Given the description of an element on the screen output the (x, y) to click on. 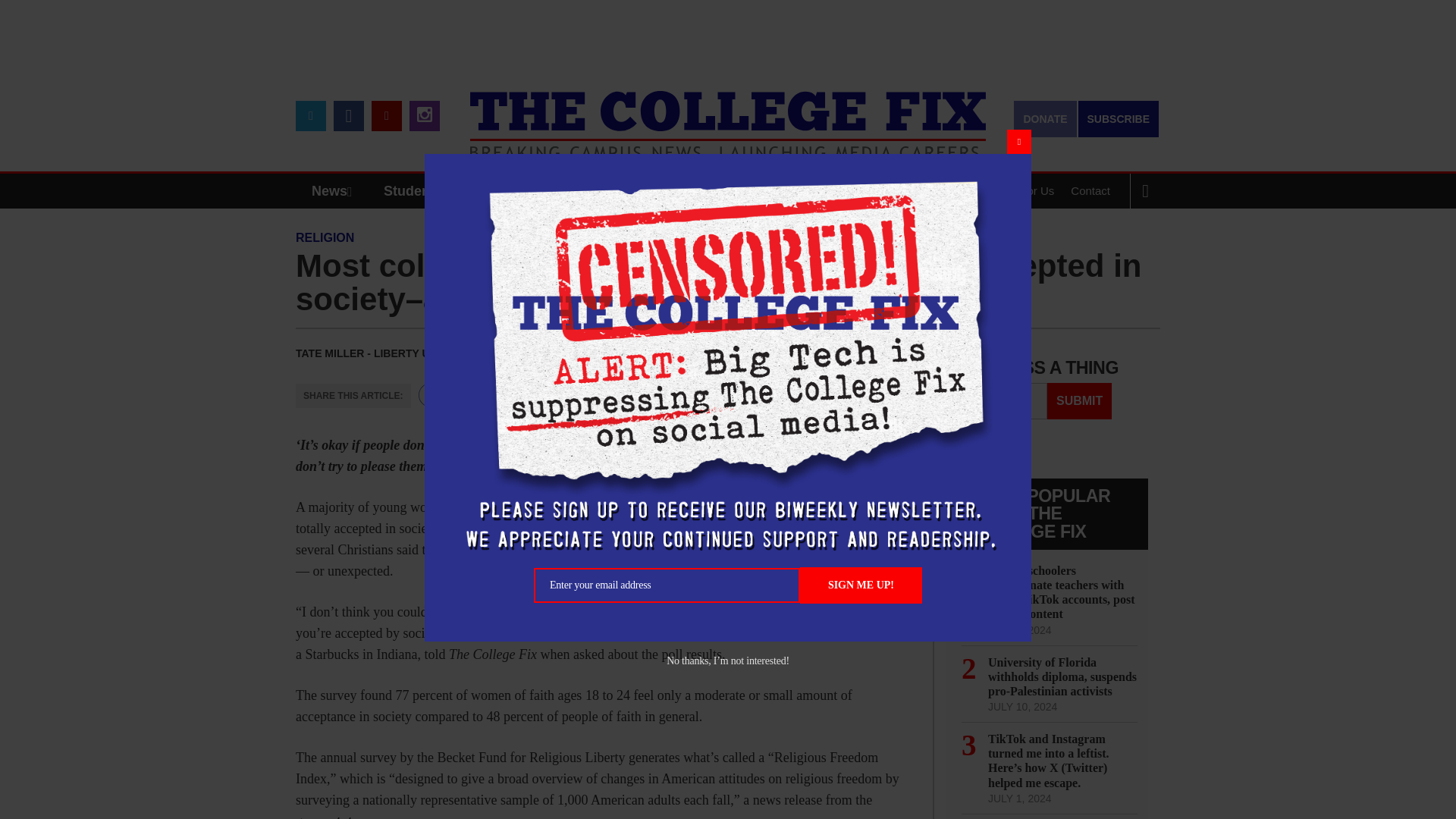
Submit (1079, 401)
DONATE (1044, 118)
Student Reporters (443, 190)
About The Fix (938, 190)
The College Fix (727, 114)
MERCHANDISE (577, 190)
News (335, 190)
SUBSCRIBE (1118, 118)
